Given the description of an element on the screen output the (x, y) to click on. 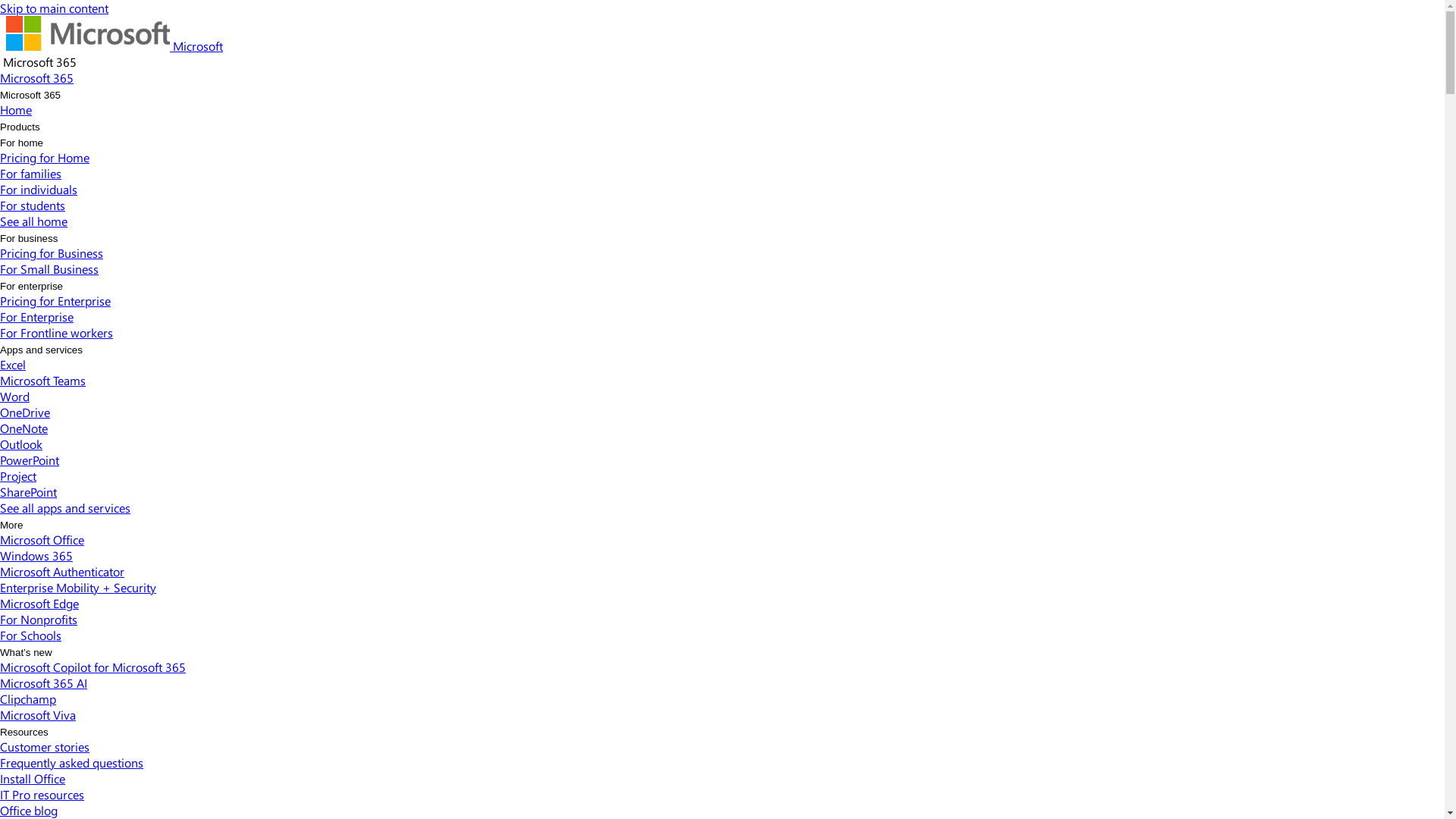
SharePoint Element type: text (28, 491)
For individuals Element type: text (38, 189)
Microsoft Edge Element type: text (39, 603)
More Element type: text (11, 524)
Microsoft Copilot for Microsoft 365 Element type: text (92, 666)
For Nonprofits Element type: text (38, 619)
Microsoft 365 Element type: text (36, 77)
For students Element type: text (32, 205)
Pricing for Enterprise Element type: text (55, 300)
For home Element type: text (21, 142)
Microsoft Teams Element type: text (42, 380)
Home Element type: text (15, 109)
Microsoft 365 AI Element type: text (43, 682)
Pricing for Business Element type: text (51, 252)
Customer stories Element type: text (44, 746)
Resources Element type: text (24, 731)
Office blog Element type: text (28, 810)
OneDrive Element type: text (25, 412)
Enterprise Mobility + Security Element type: text (78, 587)
For Small Business Element type: text (49, 268)
For Frontline workers Element type: text (56, 332)
PowerPoint Element type: text (29, 459)
Windows 365 Element type: text (36, 555)
Excel Element type: text (12, 364)
IT Pro resources Element type: text (42, 794)
Microsoft 365 Element type: text (30, 94)
Word Element type: text (14, 396)
Microsoft Authenticator Element type: text (62, 571)
For families Element type: text (30, 173)
Clipchamp Element type: text (28, 698)
Install Office Element type: text (32, 778)
OneNote Element type: text (23, 428)
Frequently asked questions Element type: text (71, 762)
Microsoft Viva Element type: text (37, 714)
Pricing for Home Element type: text (44, 157)
For enterprise Element type: text (31, 285)
See all apps and services Element type: text (65, 507)
Apps and services Element type: text (41, 349)
Microsoft Element type: text (114, 45)
For Schools Element type: text (30, 635)
See all home Element type: text (33, 221)
Project Element type: text (18, 475)
For business Element type: text (28, 238)
Outlook Element type: text (21, 443)
Products Element type: text (20, 126)
For Enterprise Element type: text (36, 316)
Microsoft Office Element type: text (42, 539)
Skip to main content Element type: text (54, 7)
